Given the description of an element on the screen output the (x, y) to click on. 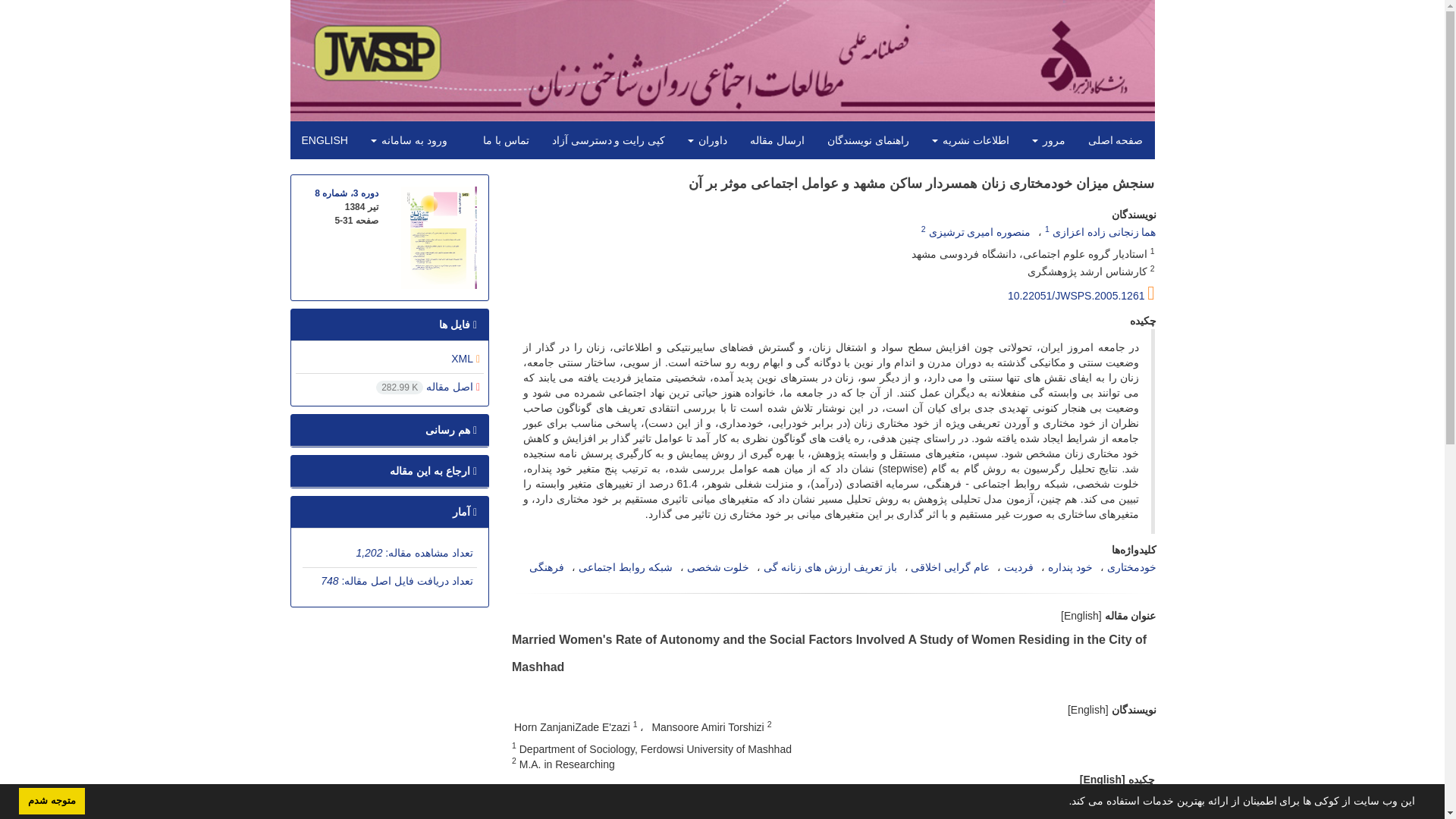
ENGLISH (323, 139)
